Given the description of an element on the screen output the (x, y) to click on. 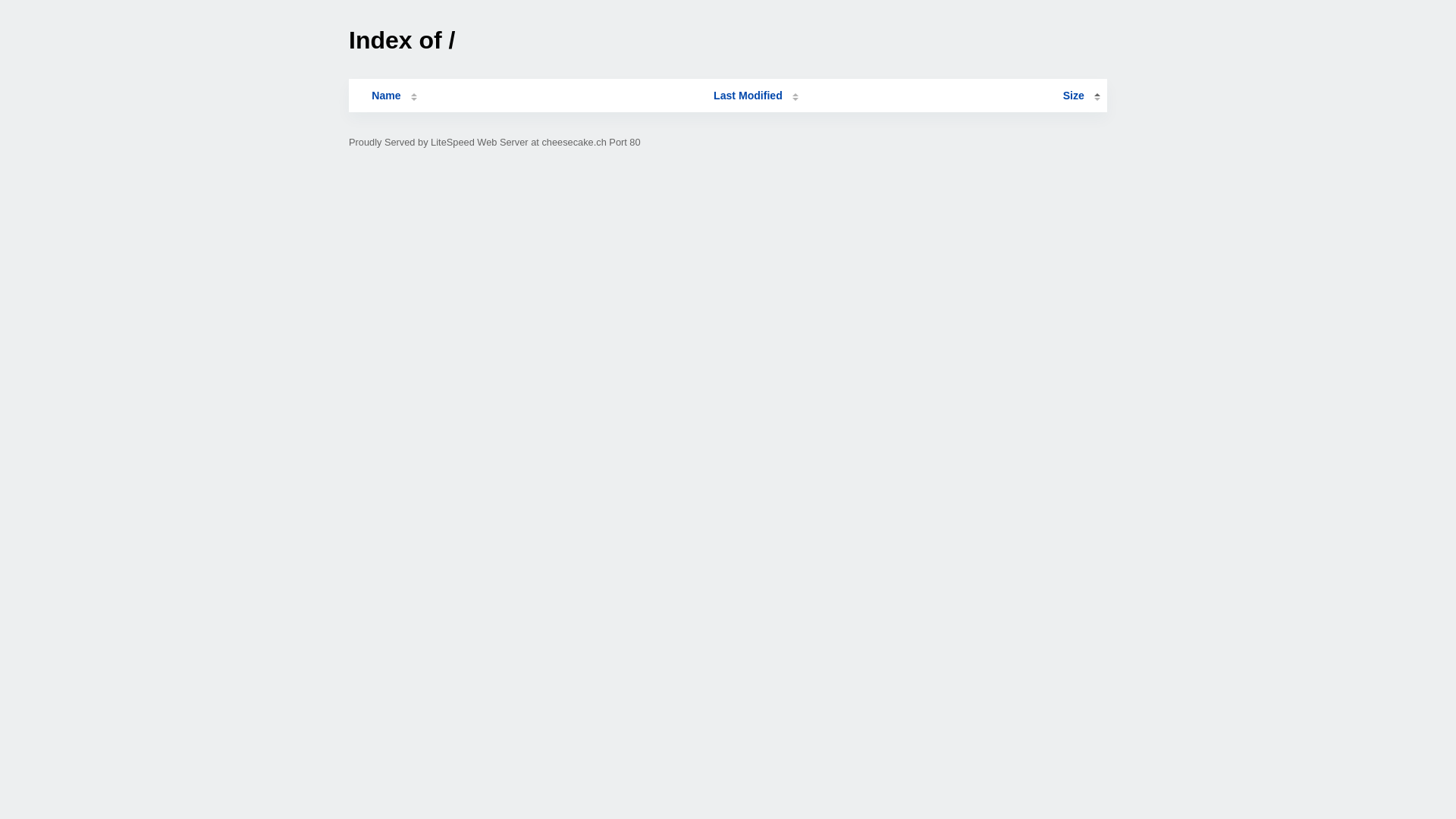
Size Element type: text (1081, 95)
Name Element type: text (385, 95)
Last Modified Element type: text (755, 95)
